Given the description of an element on the screen output the (x, y) to click on. 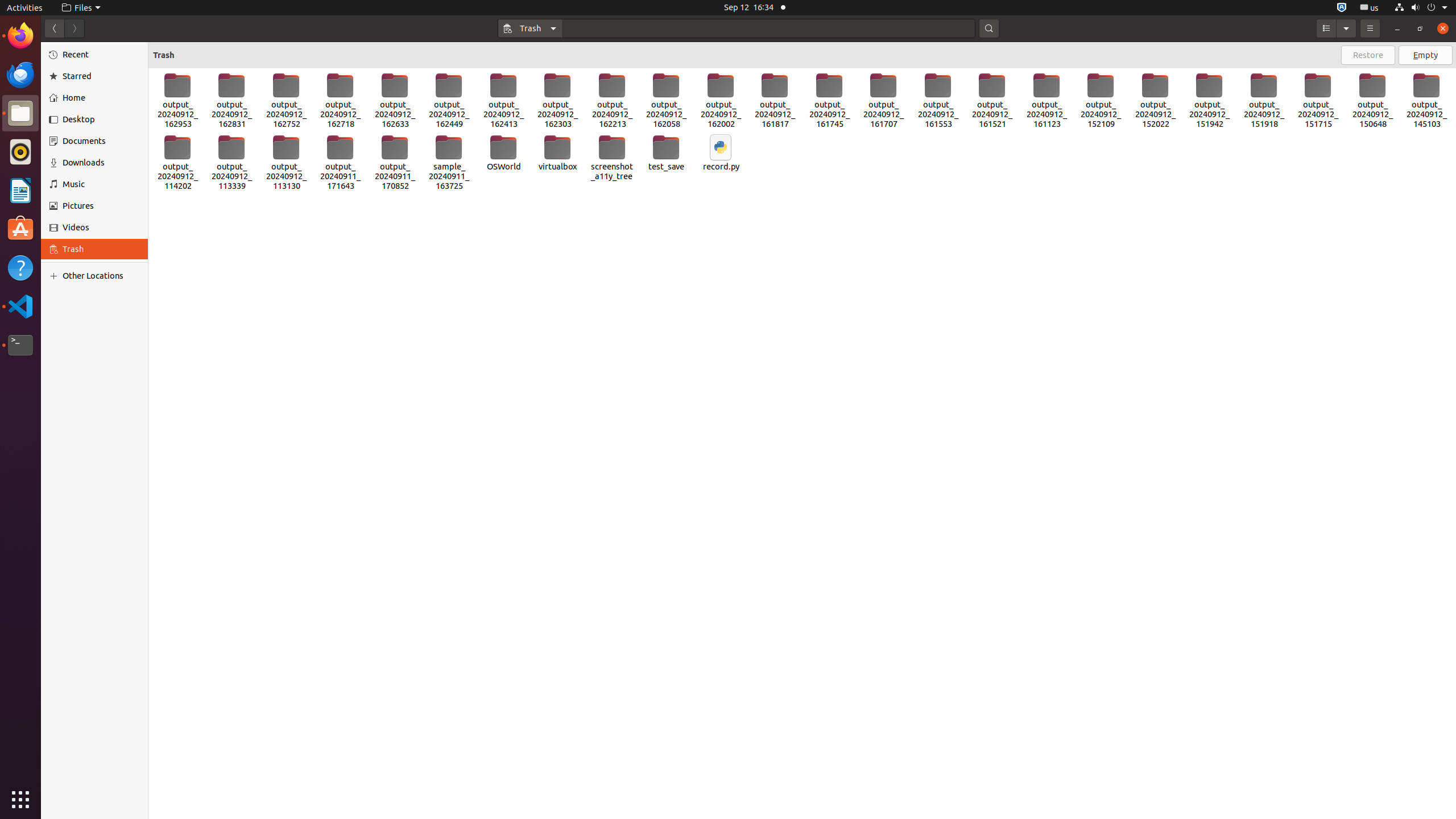
output_20240912_152022 Element type: canvas (1154, 100)
Minimize Element type: push-button (1397, 27)
Trash Element type: push-button (530, 28)
screenshot_a11y_tree Element type: canvas (611, 157)
output_20240912_161745 Element type: canvas (828, 100)
